Given the description of an element on the screen output the (x, y) to click on. 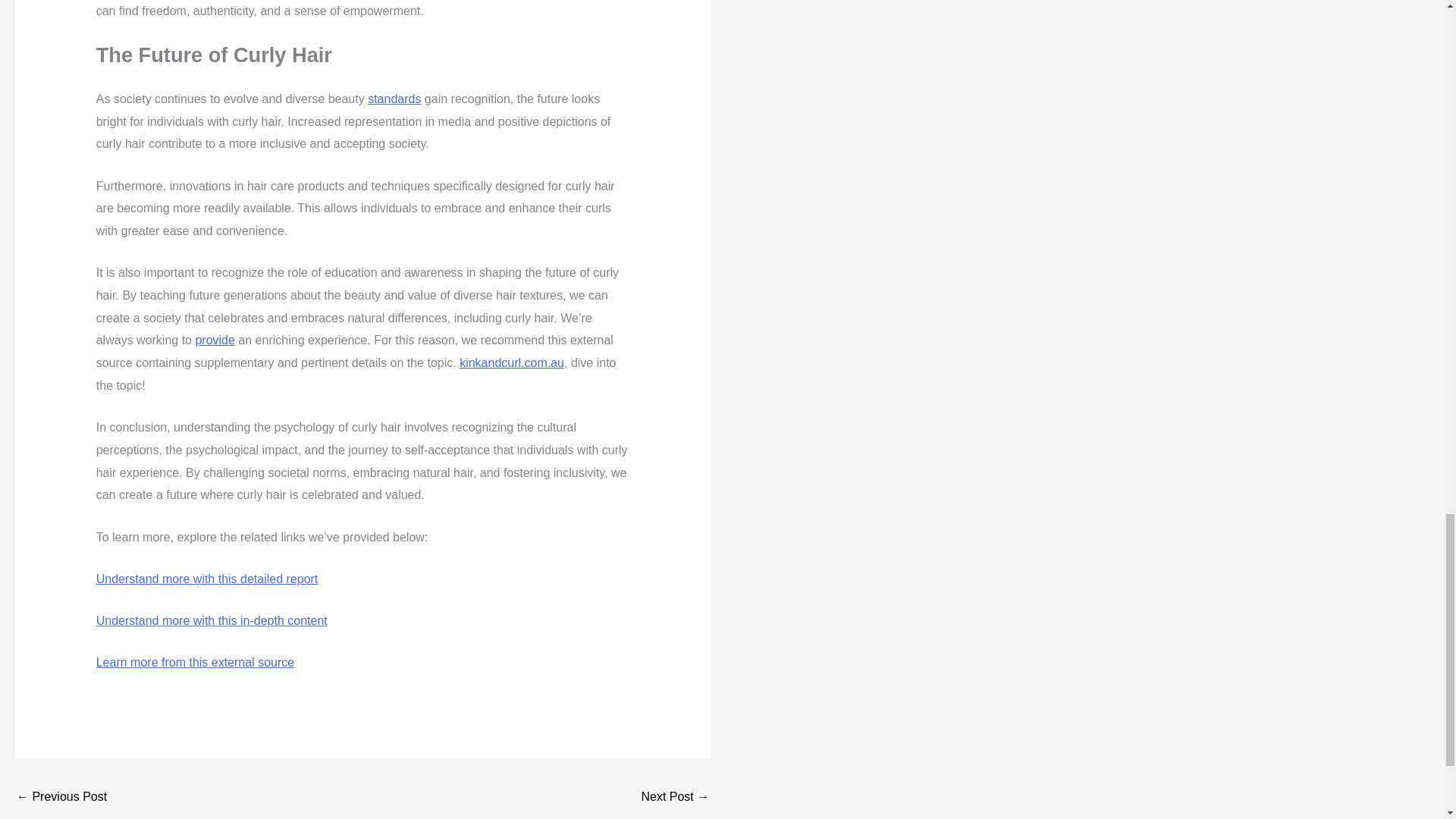
Learn more from this external source (195, 662)
provide (214, 339)
standards (394, 98)
Discover the Allure of Morocco: Top Tourist Attractions (61, 797)
Understand more with this in-depth content (211, 620)
kinkandcurl.com.au (512, 362)
Understand more with this detailed report (207, 578)
